Given the description of an element on the screen output the (x, y) to click on. 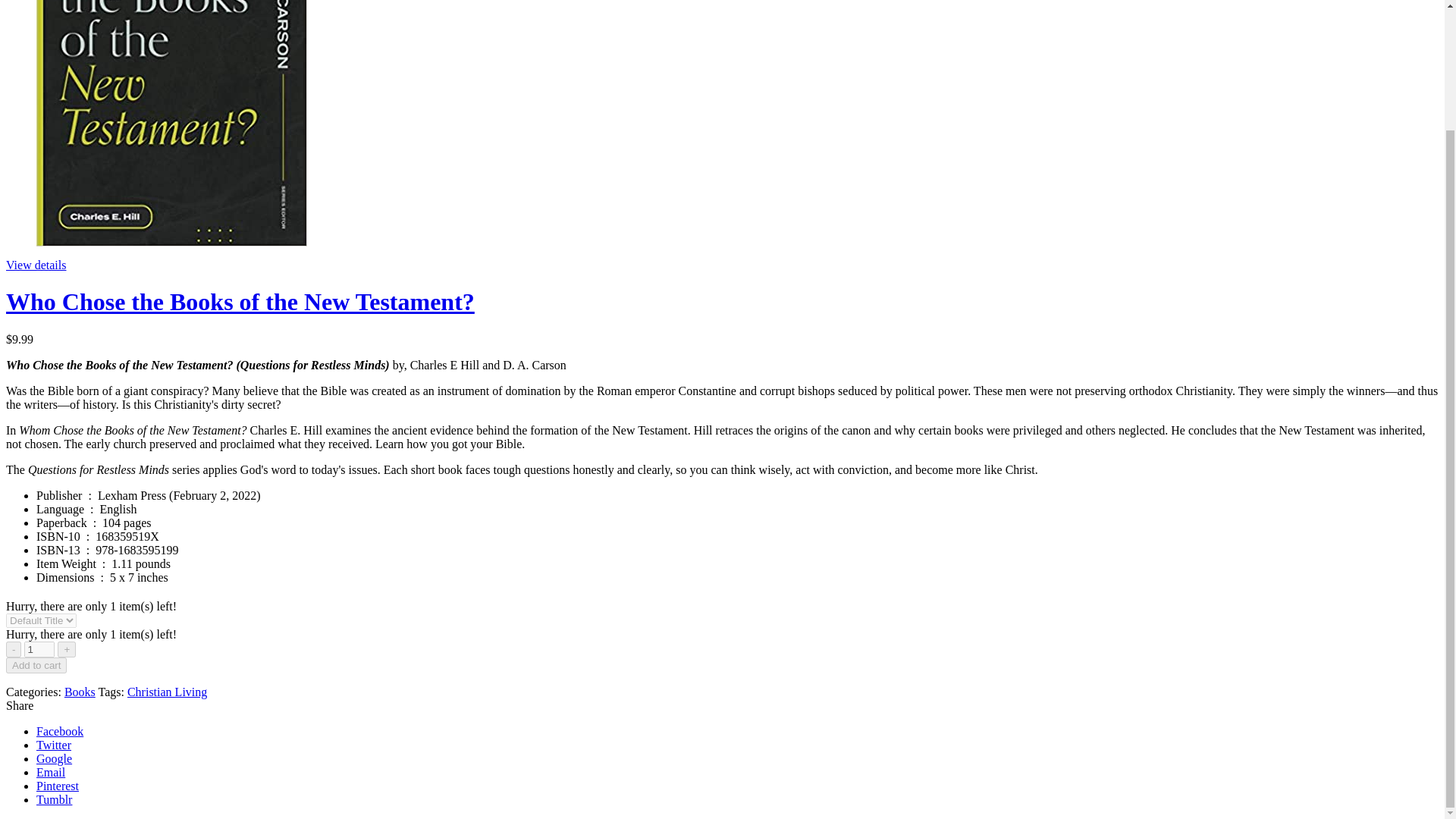
Pinterest (57, 785)
Tumblr (53, 799)
Email (50, 771)
Qty (39, 649)
Add to cart (35, 665)
Twitter (53, 744)
Christian Living (167, 691)
View details (35, 264)
Facebook (59, 730)
Who Chose the Books of the New Testament? (239, 301)
- (13, 649)
Google (53, 758)
Books (80, 691)
1 (39, 649)
